Given the description of an element on the screen output the (x, y) to click on. 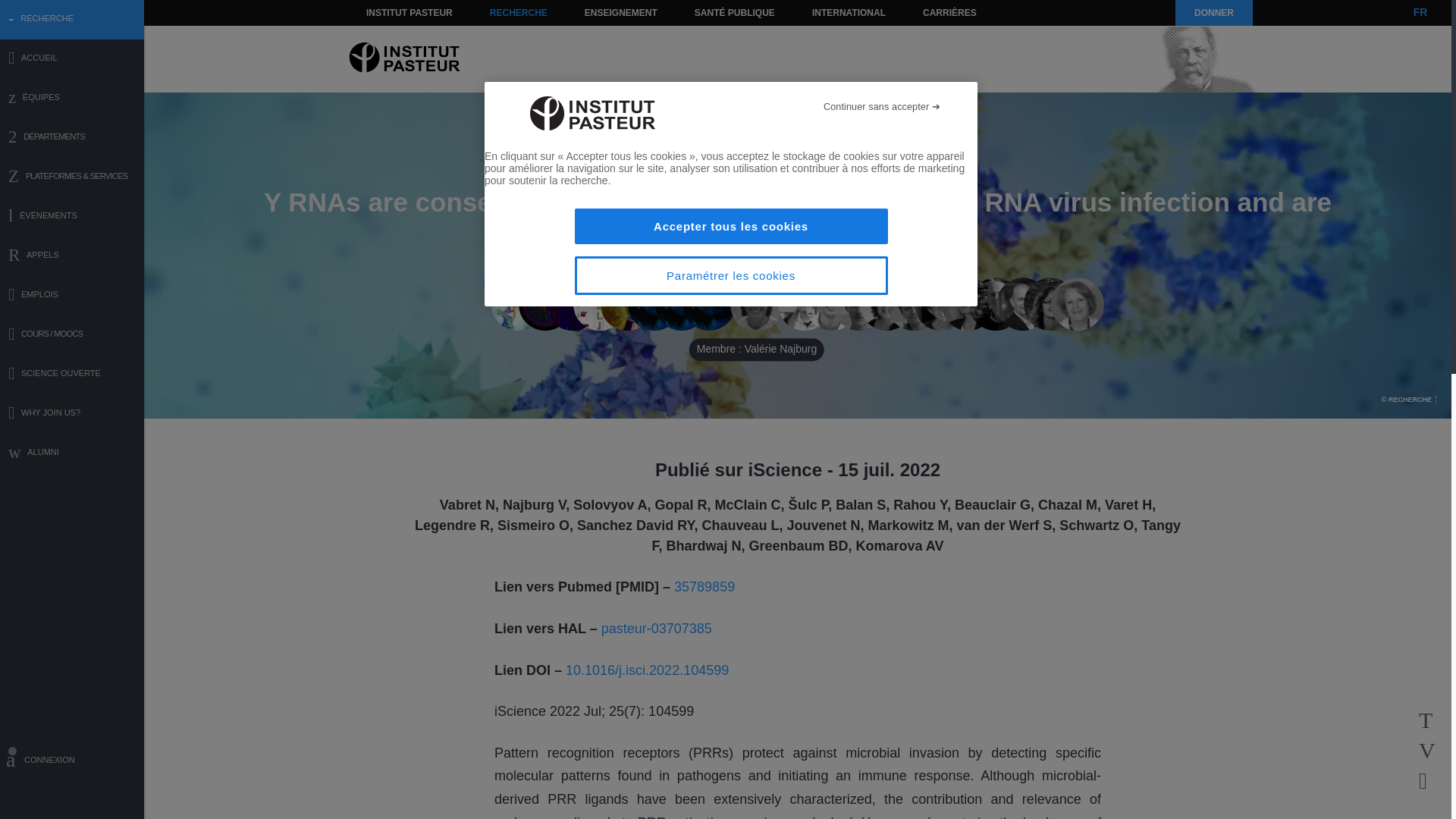
ACCUEIL (72, 59)
INSTITUT PASTEUR (409, 12)
Aller au contenu (391, 11)
ENSEIGNEMENT (620, 12)
SCIENCE OUVERTE (72, 374)
EMPLOIS (72, 296)
WHY JOIN US? (72, 413)
FR (1419, 11)
APPELS (72, 256)
ALUMNI (72, 454)
INTERNATIONAL (848, 12)
DONNER (1213, 12)
Aller au contenu (391, 11)
CONNEXION (72, 762)
RECHERCHE (518, 12)
